Given the description of an element on the screen output the (x, y) to click on. 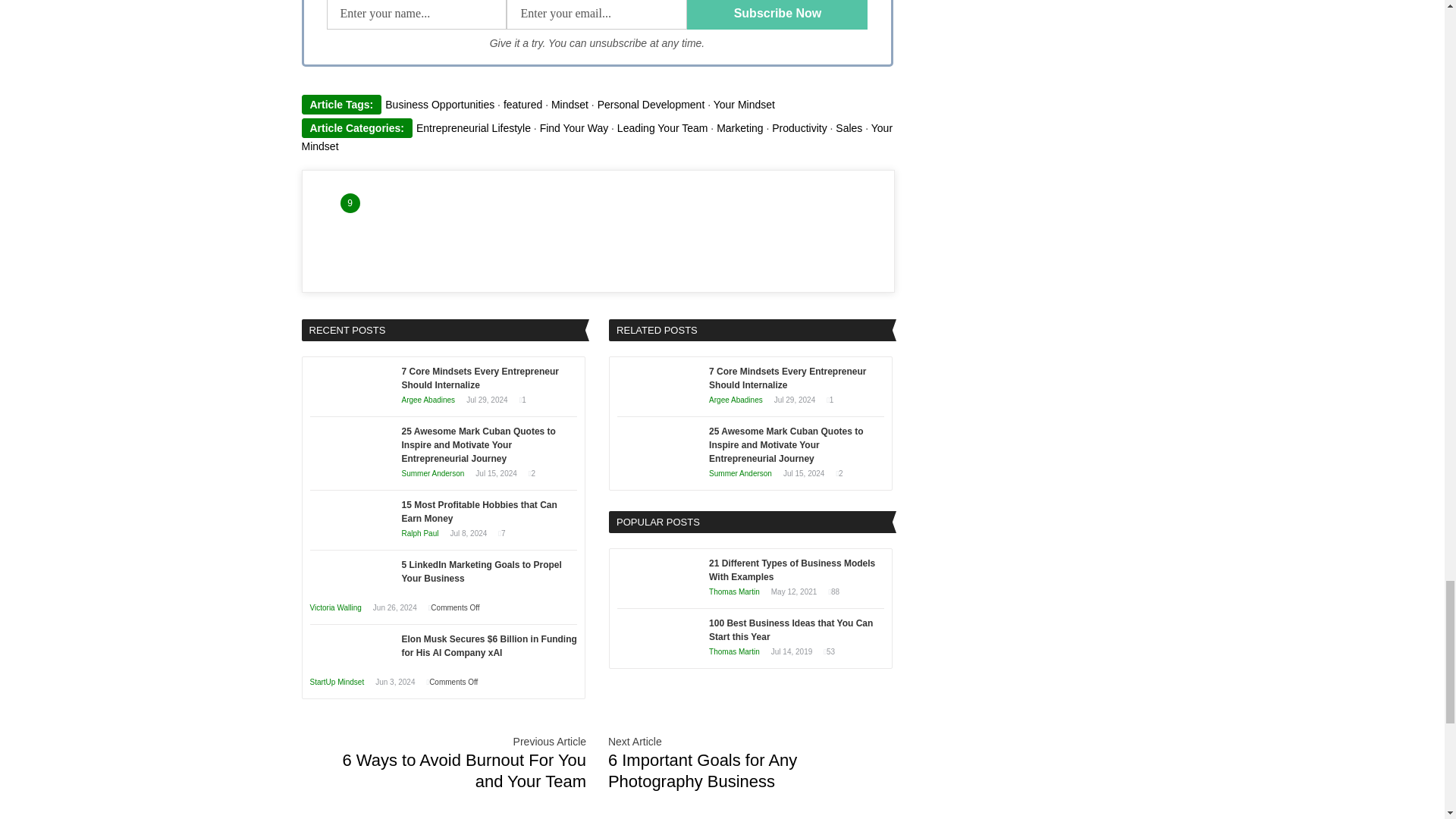
Personal Development (650, 104)
Posts by Ralph Paul (420, 533)
Posts by Victoria Walling (334, 607)
featured (522, 104)
Posts by Summer Anderson (740, 473)
Posts by StartUp Mindset (336, 682)
Posts by Summer Anderson (432, 473)
Posts by Thomas Martin (734, 651)
Posts by Thomas Martin (734, 592)
Your Mindset (743, 104)
Mindset (569, 104)
Entrepreneurial Lifestyle (473, 128)
Posts by Argee Abadines (428, 399)
Subscribe Now (777, 14)
Subscribe Now (777, 14)
